Given the description of an element on the screen output the (x, y) to click on. 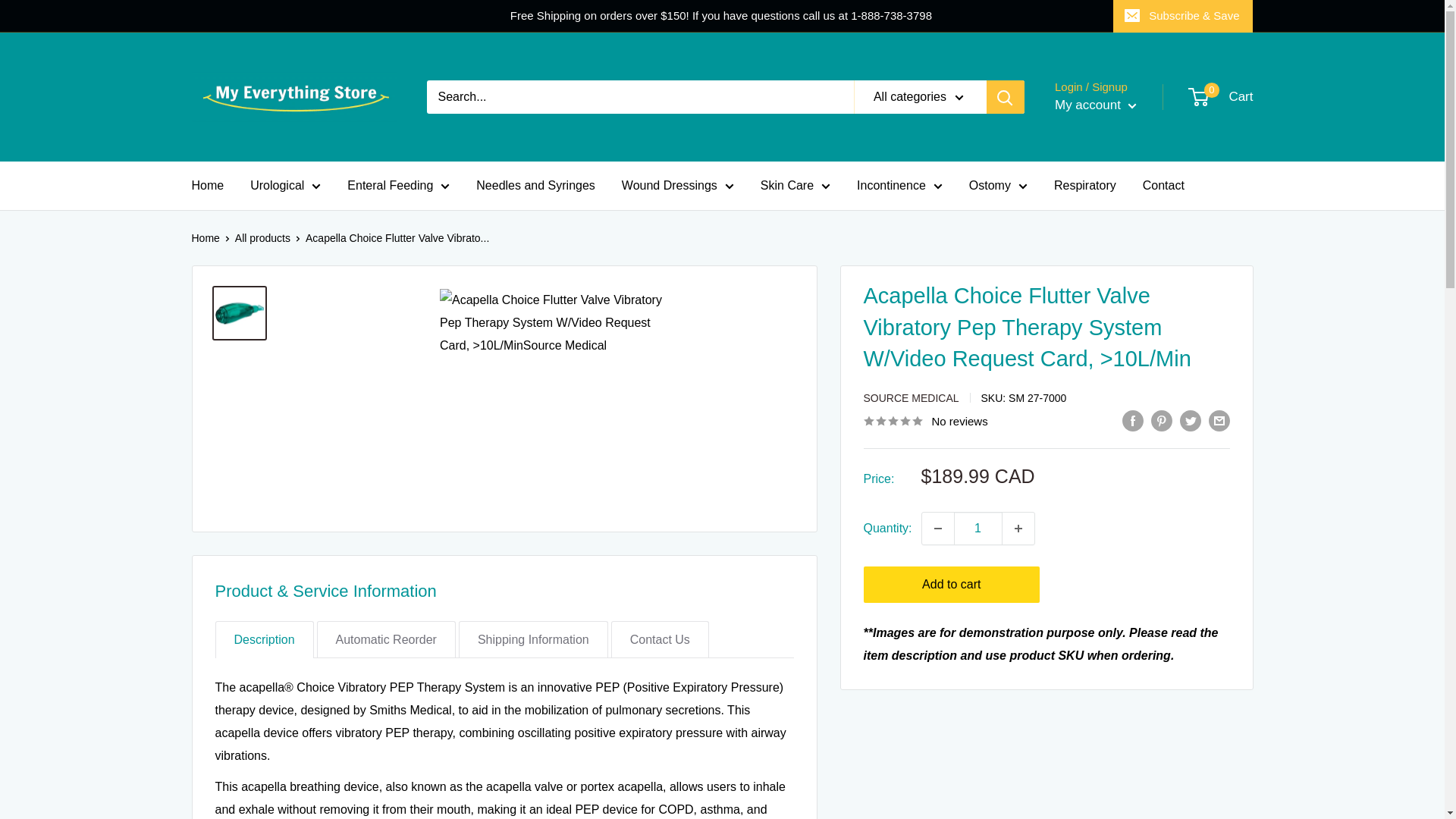
Increase quantity by 1 (1018, 528)
Decrease quantity by 1 (937, 528)
1 (978, 528)
